Given the description of an element on the screen output the (x, y) to click on. 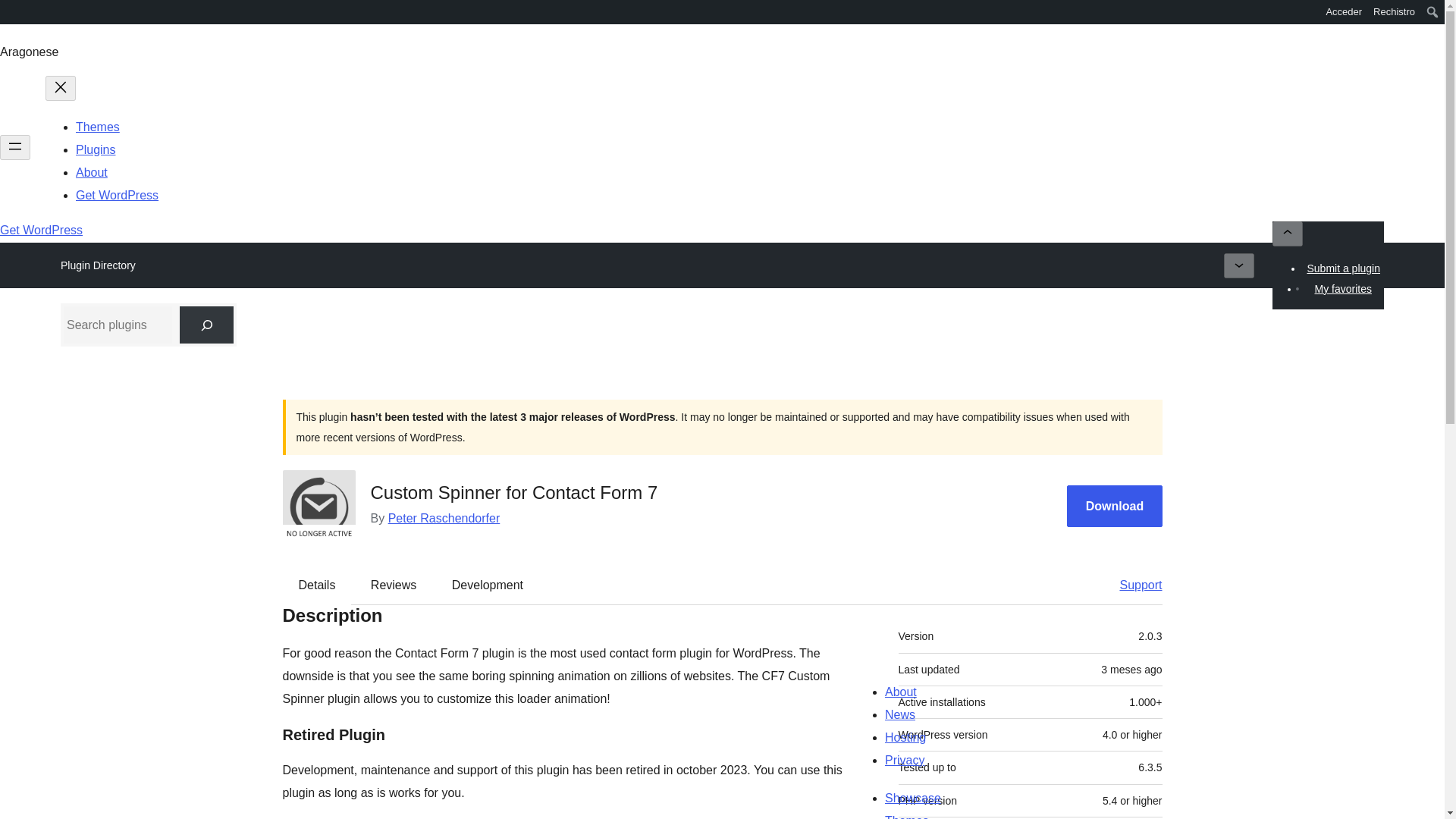
Acceder (1344, 12)
Development (487, 585)
Get WordPress (116, 195)
About (91, 172)
My favorites (1342, 288)
Themes (97, 126)
Plugins (95, 149)
Buscar (16, 13)
Details (316, 585)
Reviews (392, 585)
Support (1132, 585)
Rechistro (1394, 12)
Get WordPress (41, 229)
Peter Raschendorfer (444, 517)
WordPress.org (10, 10)
